Given the description of an element on the screen output the (x, y) to click on. 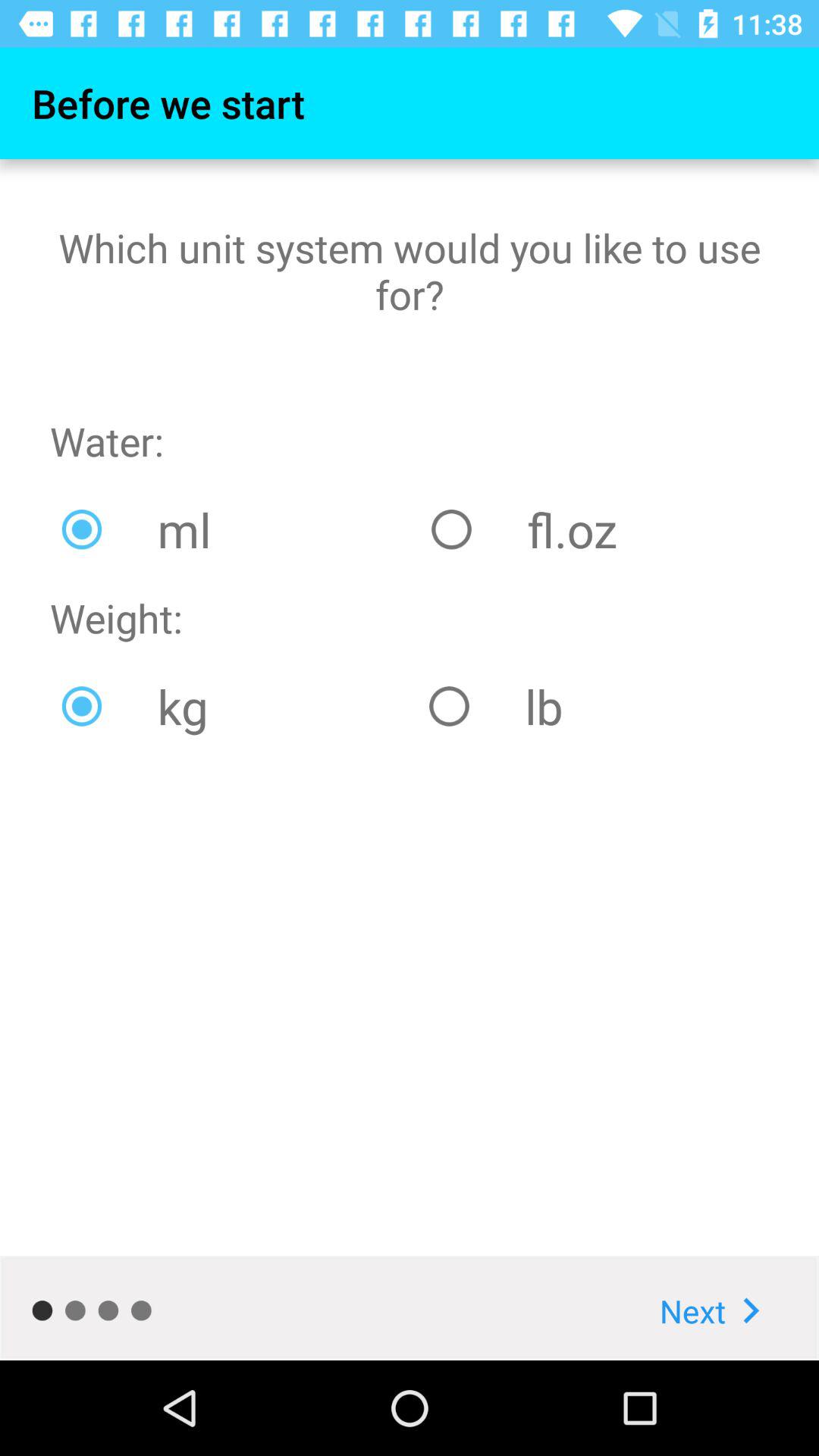
launch the item next to the ml (593, 529)
